Given the description of an element on the screen output the (x, y) to click on. 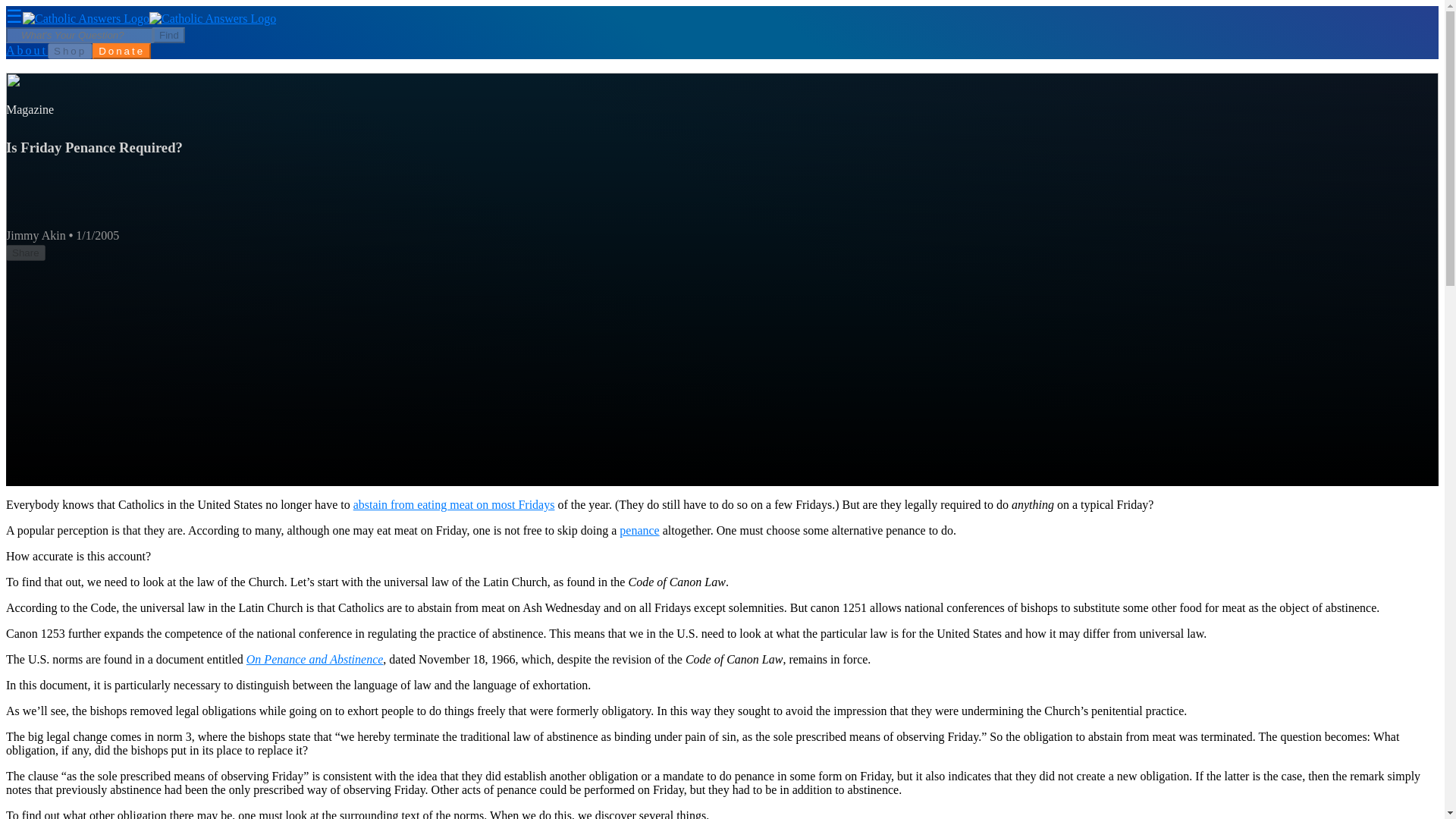
Shop (70, 50)
About (26, 50)
Find (168, 35)
Donate (122, 50)
Shop (70, 50)
